Given the description of an element on the screen output the (x, y) to click on. 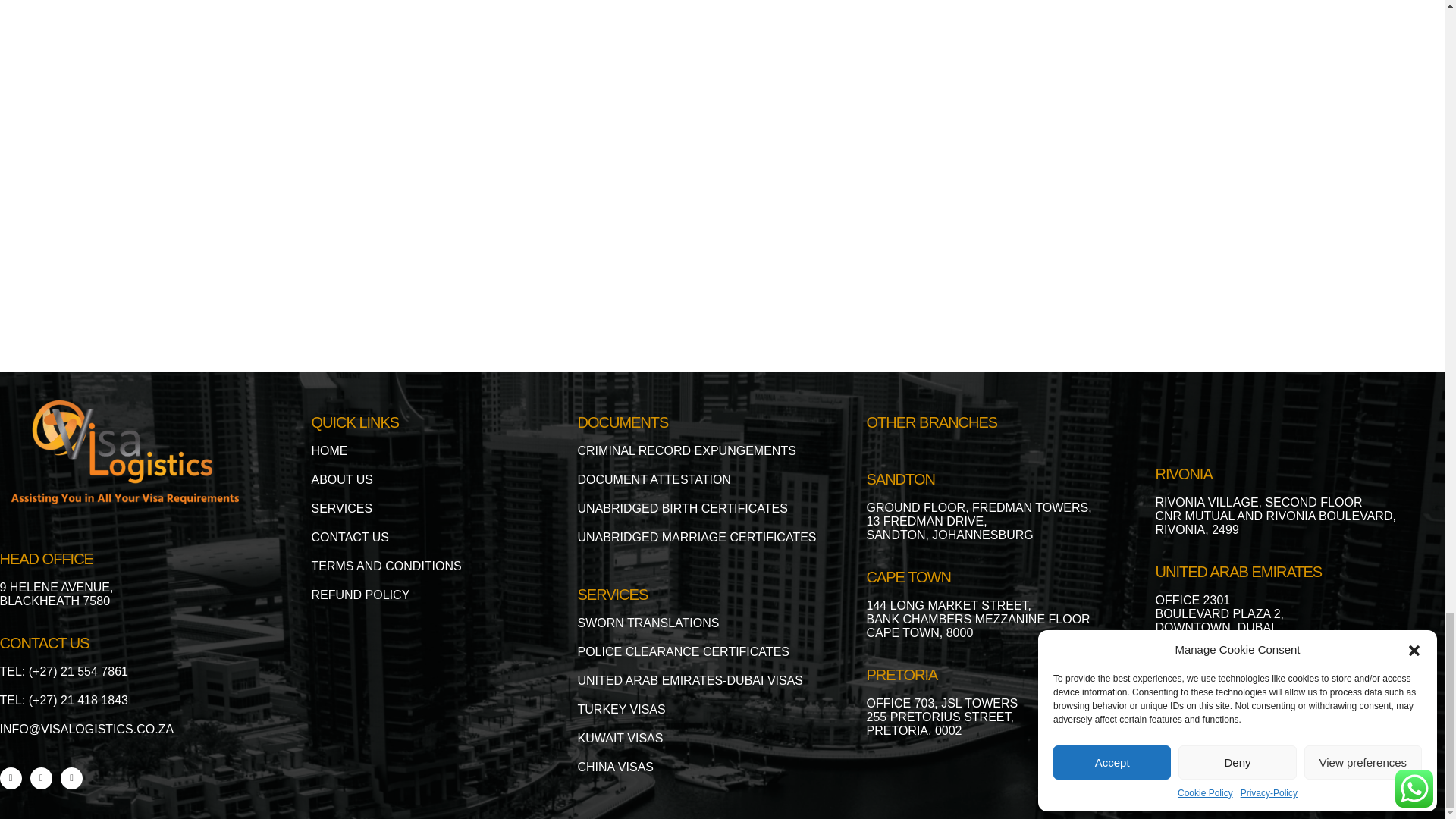
LinkedIn (71, 778)
Visa Logistics Logo (124, 452)
Facebook (10, 778)
Twitter (41, 778)
